Given the description of an element on the screen output the (x, y) to click on. 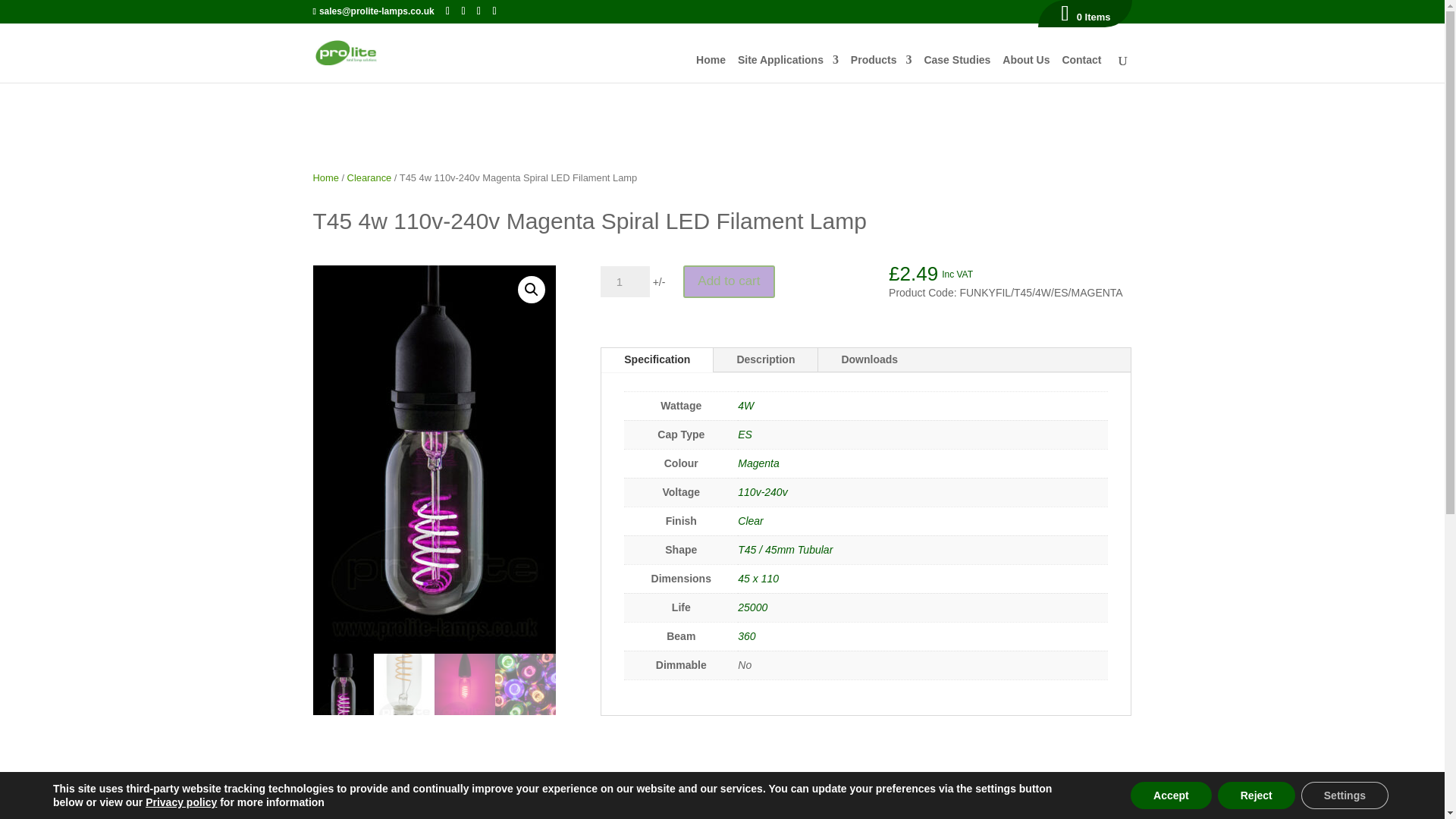
Products (881, 65)
Prolite T45 Funky Filament Magenta Dark (433, 459)
Site Applications (788, 65)
1 (624, 282)
0 Items (1085, 17)
Home (710, 65)
